Given the description of an element on the screen output the (x, y) to click on. 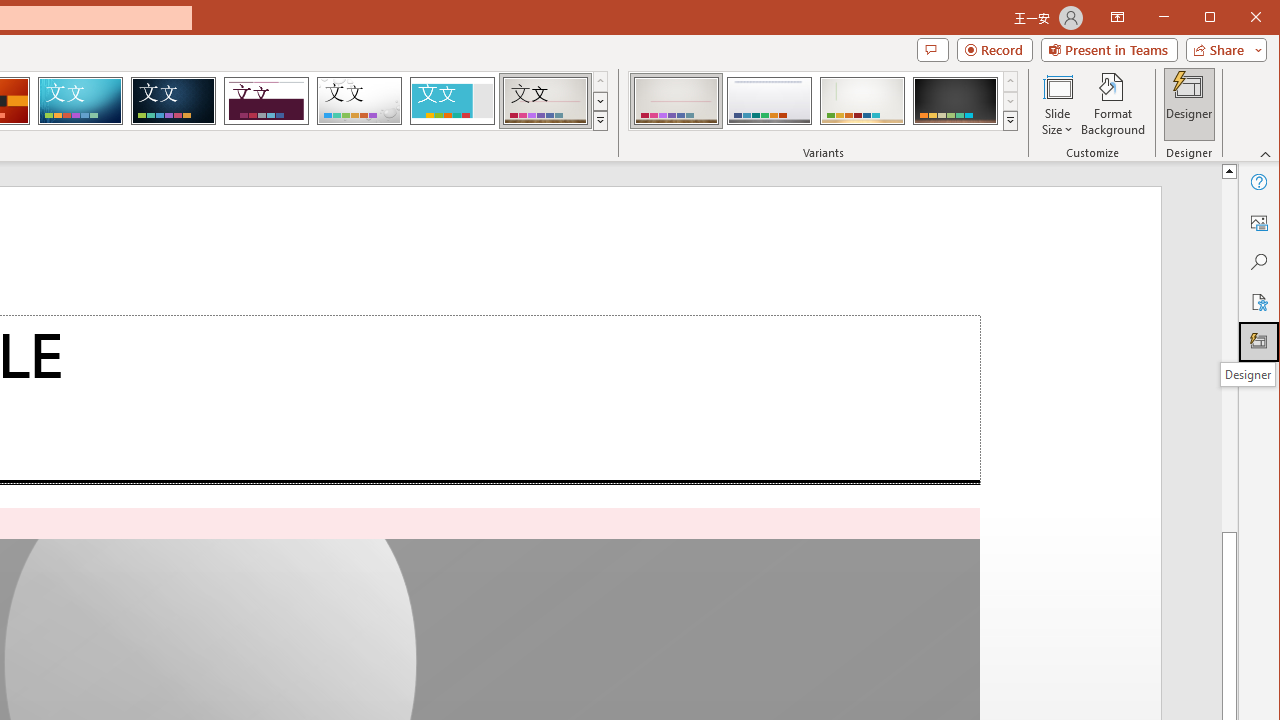
Maximize (1238, 18)
AutomationID: ThemeVariantsGallery (824, 101)
